Given the description of an element on the screen output the (x, y) to click on. 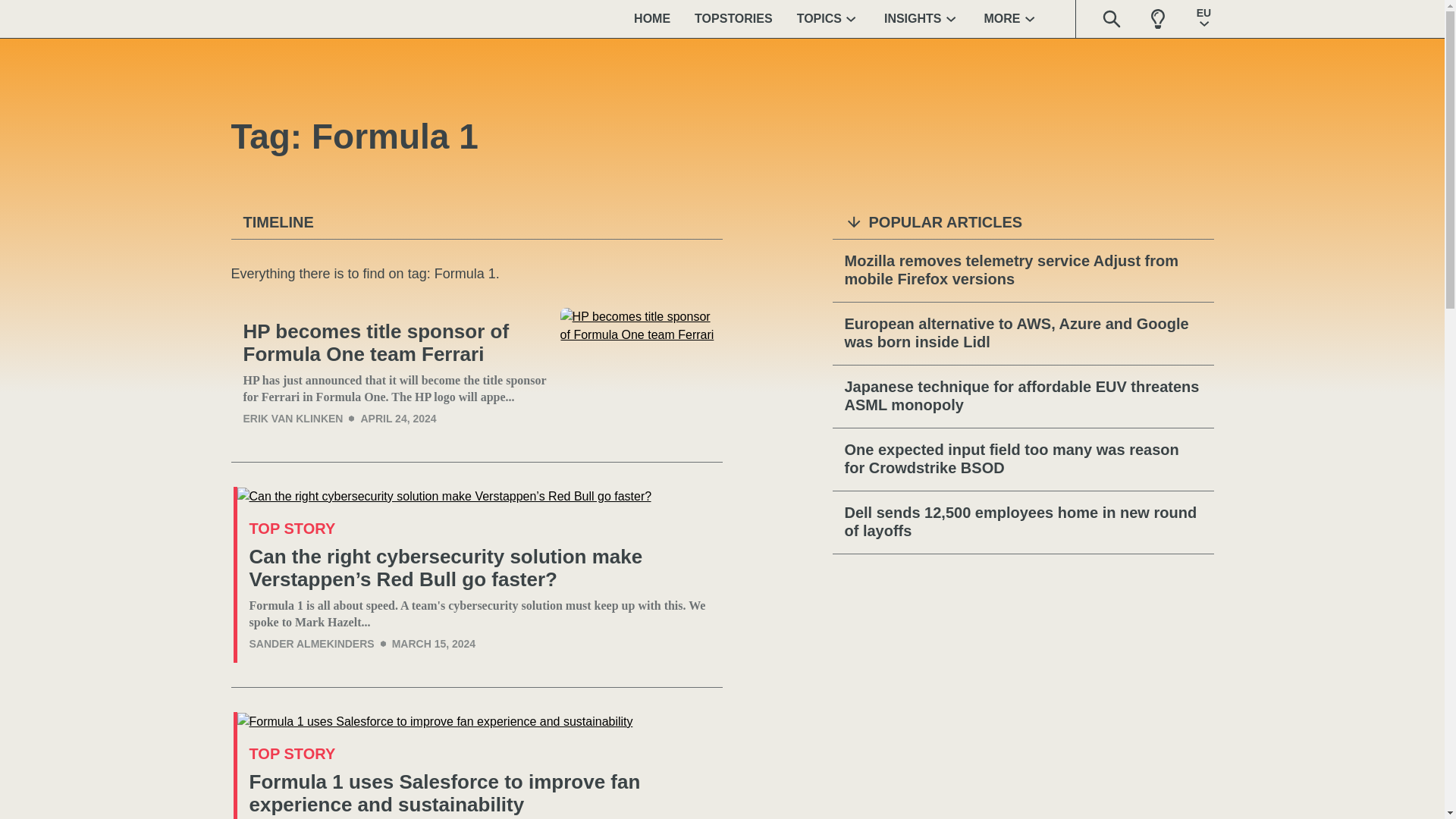
HP becomes title sponsor of Formula One team Ferrari (395, 343)
HP becomes title sponsor of Formula One team Ferrari (395, 343)
MORE (1011, 18)
TOPSTORIES (733, 18)
HOME (651, 18)
INSIGHTS (922, 18)
TOP STORY (291, 528)
HP becomes title sponsor of Formula One team Ferrari (641, 372)
